Given the description of an element on the screen output the (x, y) to click on. 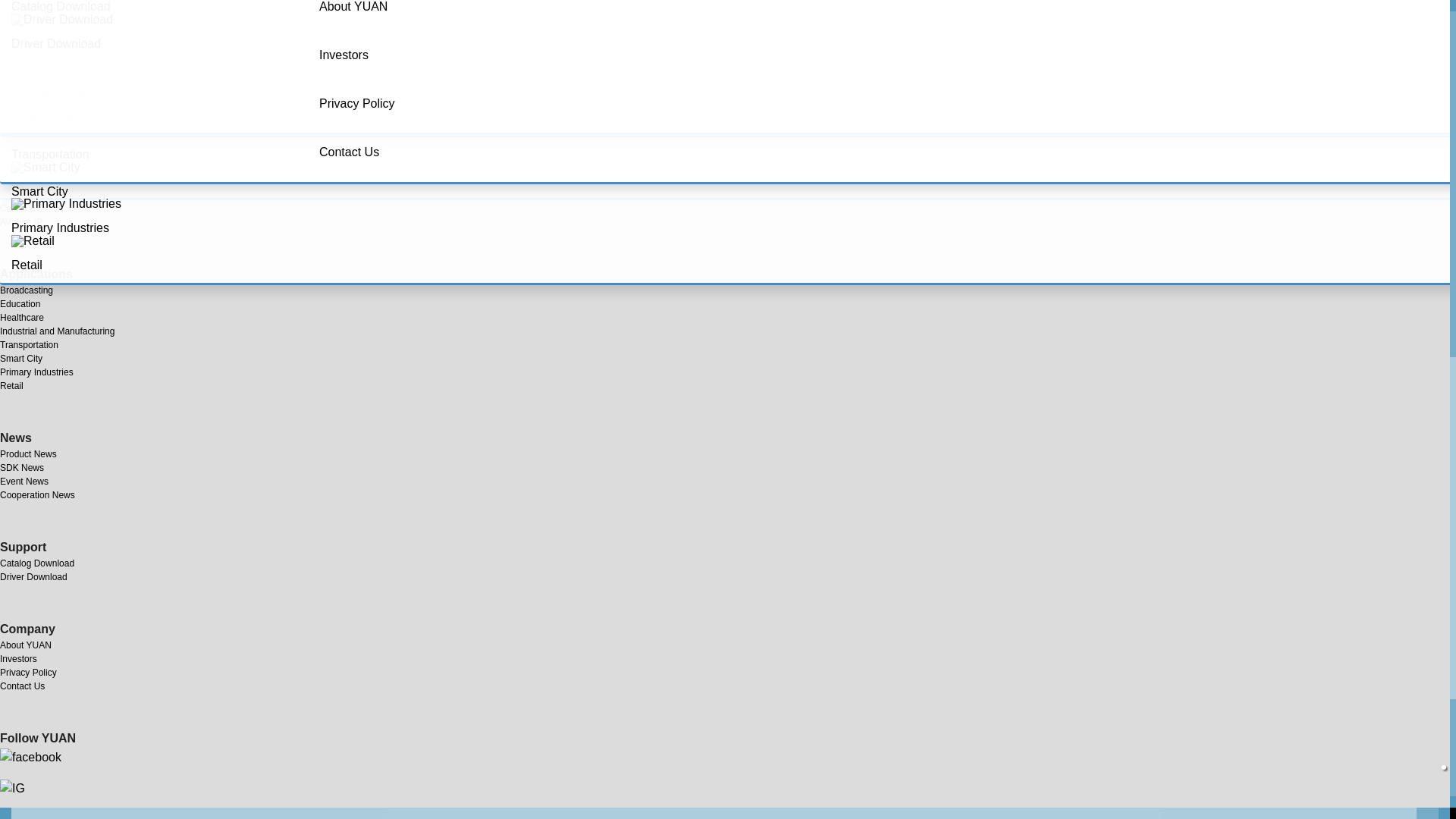
Converter (402, 87)
Capture (402, 13)
AV over IP (402, 161)
Camera (402, 124)
Live Production (402, 50)
